Given the description of an element on the screen output the (x, y) to click on. 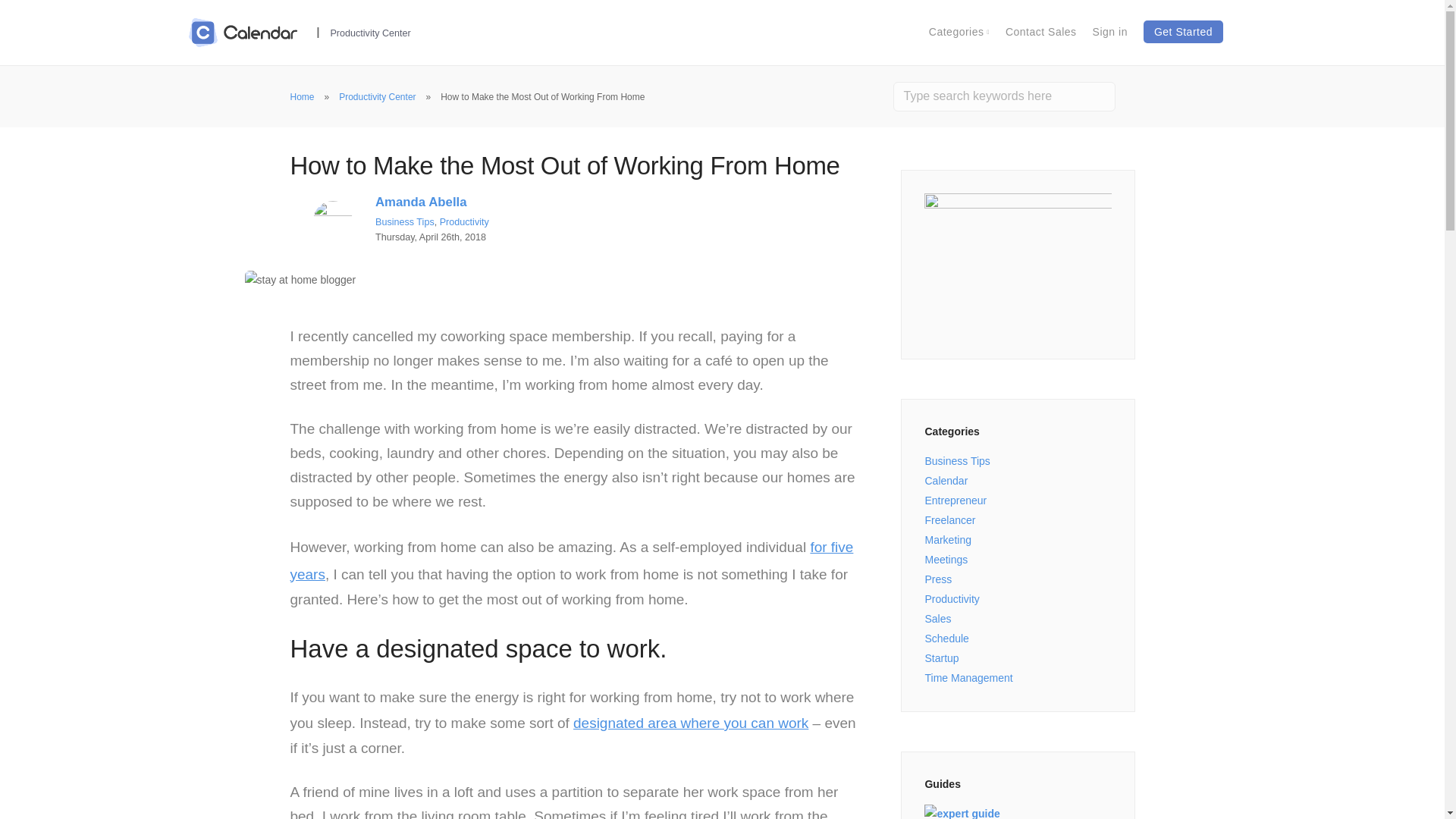
SEARCH (1141, 95)
Productivity Center (370, 32)
Meetings (946, 559)
Productivity Center (376, 96)
Freelancer (949, 520)
Productivity (951, 598)
Home (301, 96)
Business Tips (957, 460)
Business Tips (404, 222)
designated area where you can work (690, 722)
Amanda Abella (421, 201)
